Given the description of an element on the screen output the (x, y) to click on. 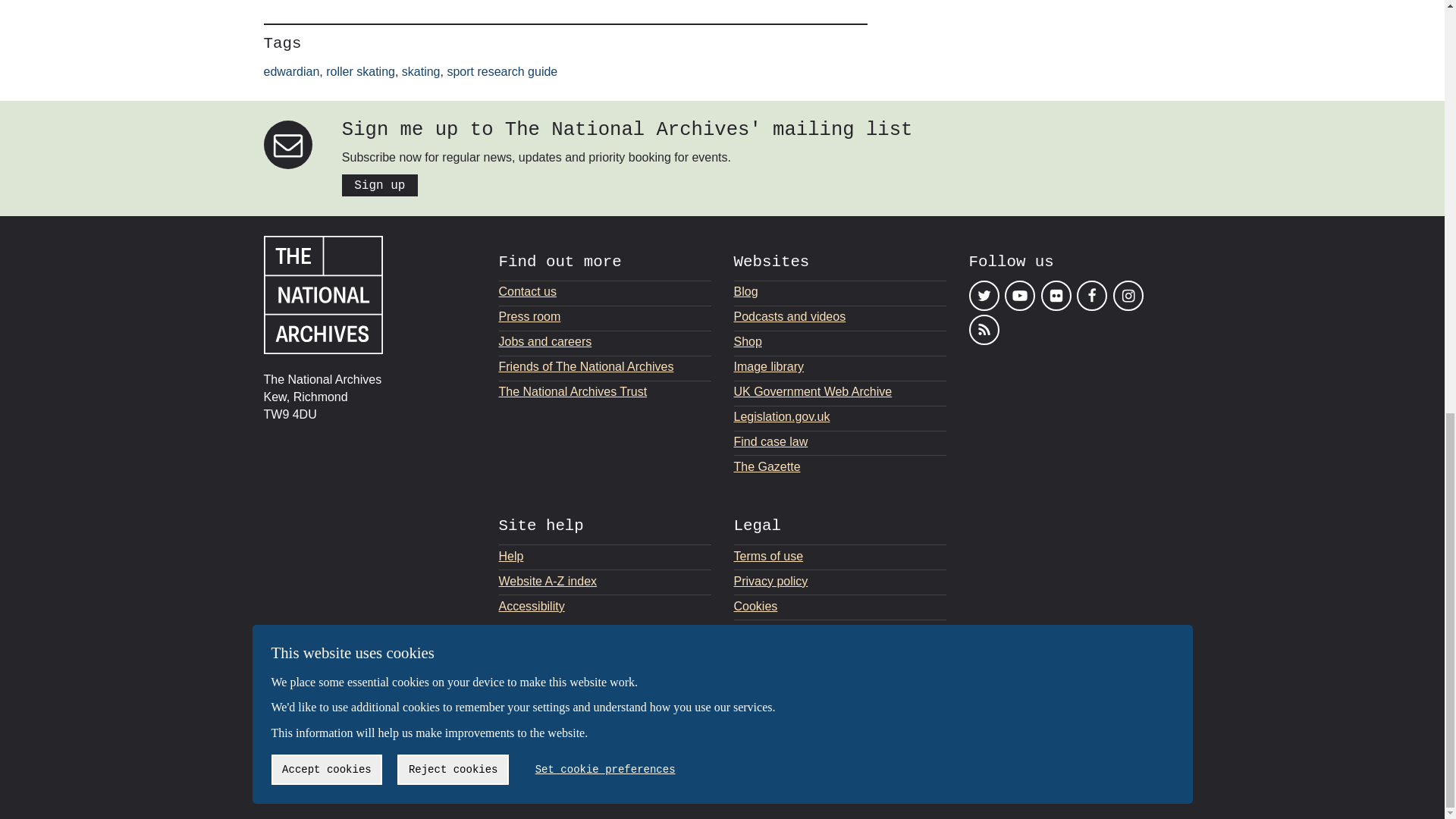
Follow us on Facebook - Opens a new window (1091, 295)
Follow us via RSS (983, 328)
Opens a new window (839, 466)
Opens a new window (839, 416)
Follow us on Instagram - Opens a new window (1127, 295)
Follow us on Twitter - Opens a new window (983, 295)
Follow us on Flickr - Opens a new window (1056, 295)
Follow us on YouTube - Opens a new window (1019, 295)
